Given the description of an element on the screen output the (x, y) to click on. 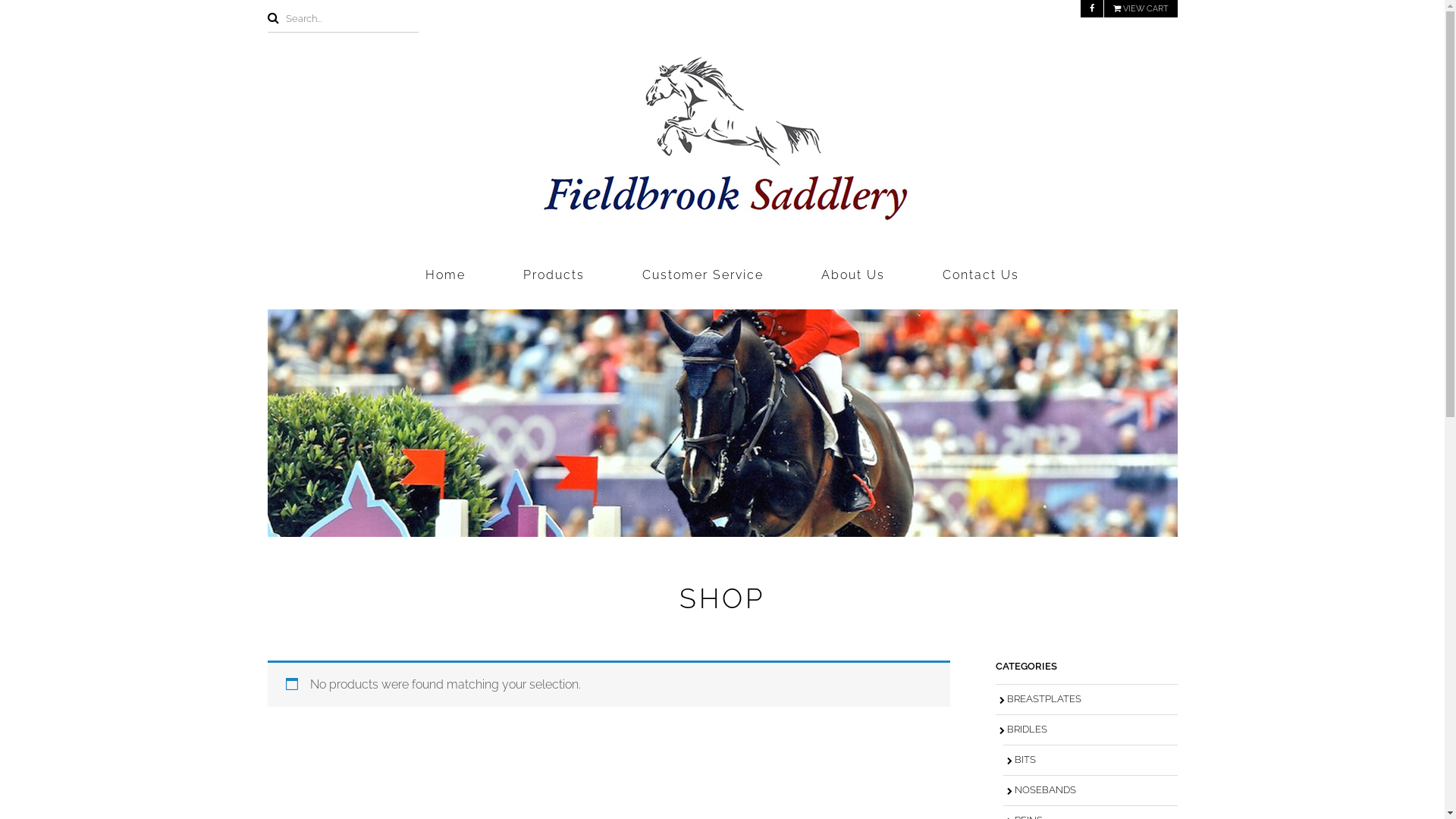
BRIDLES Element type: text (1085, 729)
Home Element type: text (445, 274)
BITS Element type: text (1089, 760)
Customer Service Element type: text (702, 274)
NOSEBANDS Element type: text (1089, 790)
Contact Us Element type: text (980, 274)
Products Element type: text (553, 274)
BREASTPLATES Element type: text (1085, 699)
VIEW CART Element type: text (1140, 8)
About Us Element type: text (852, 274)
